Given the description of an element on the screen output the (x, y) to click on. 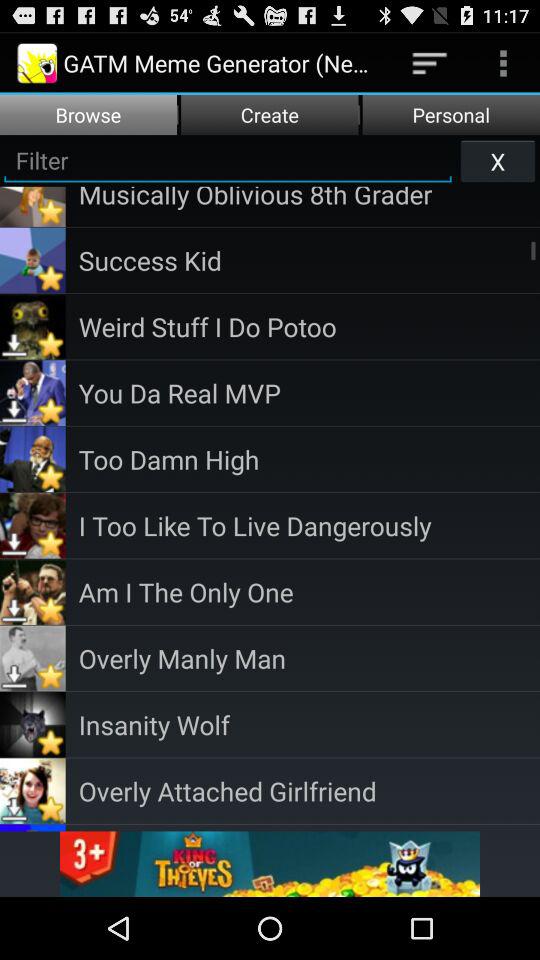
press item above personal icon (429, 62)
